Given the description of an element on the screen output the (x, y) to click on. 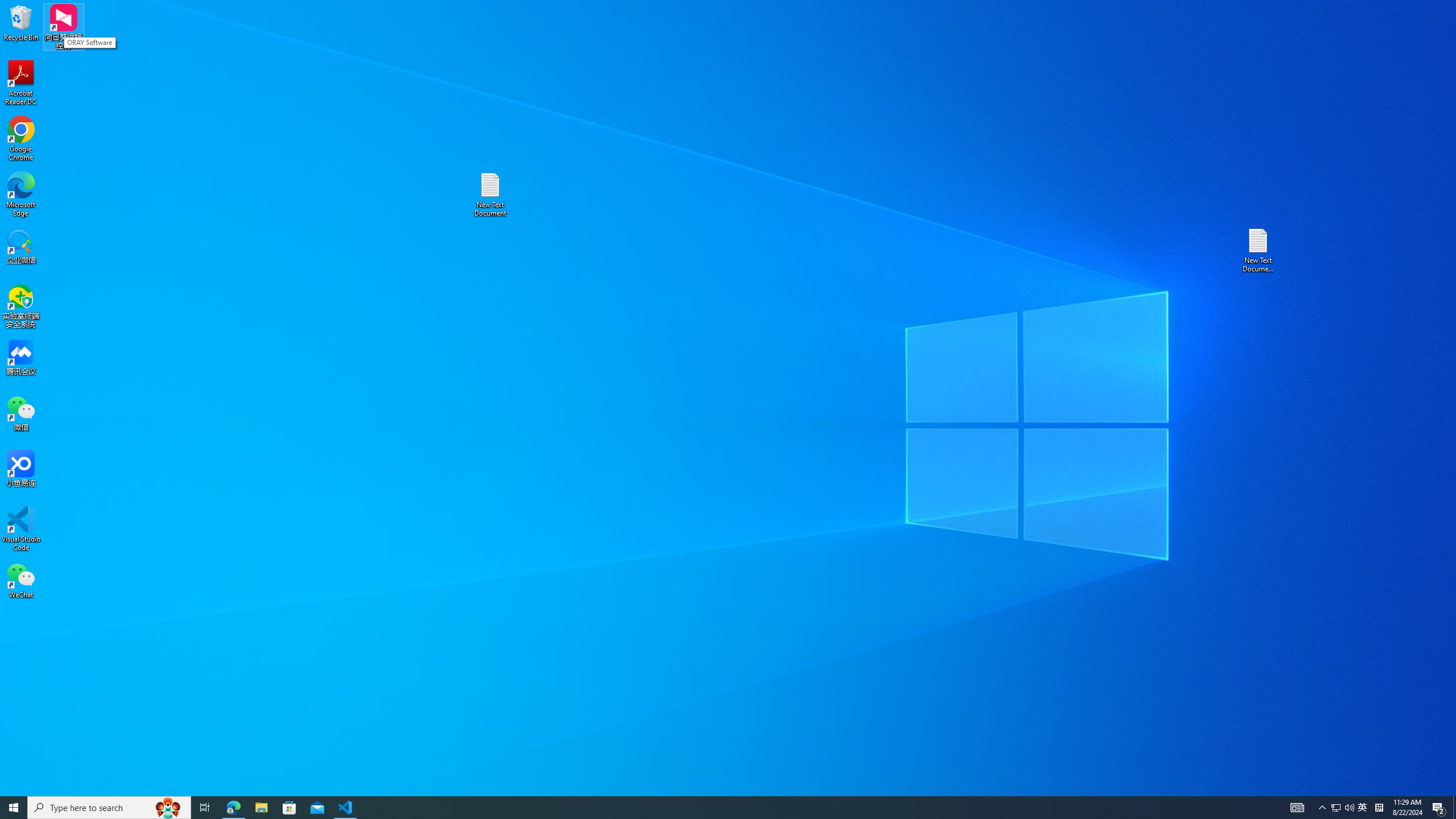
Visual Studio Code (21, 528)
